Given the description of an element on the screen output the (x, y) to click on. 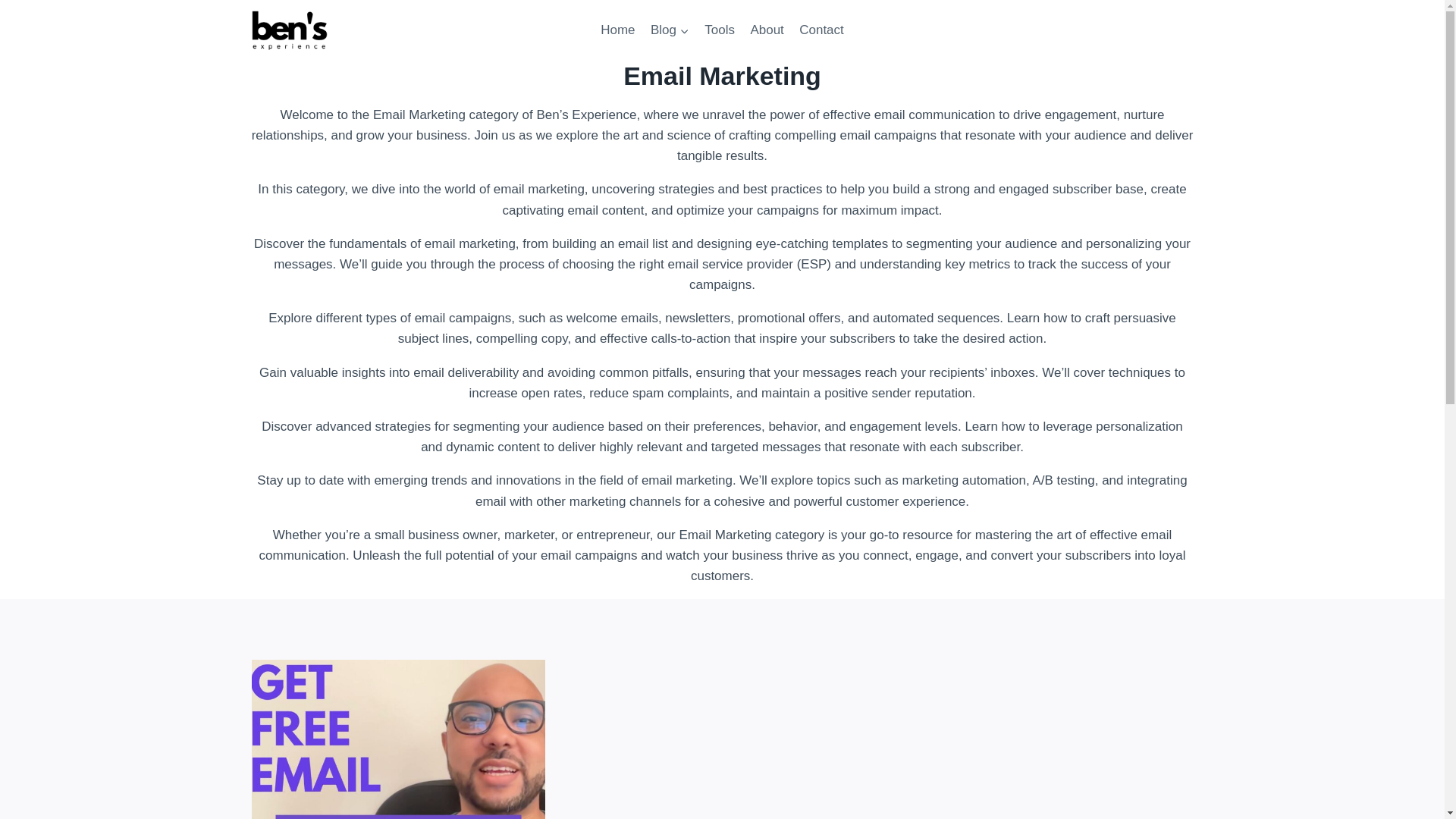
Home (617, 30)
About (767, 30)
Blog (670, 30)
Tools (719, 30)
Contact (821, 30)
